Given the description of an element on the screen output the (x, y) to click on. 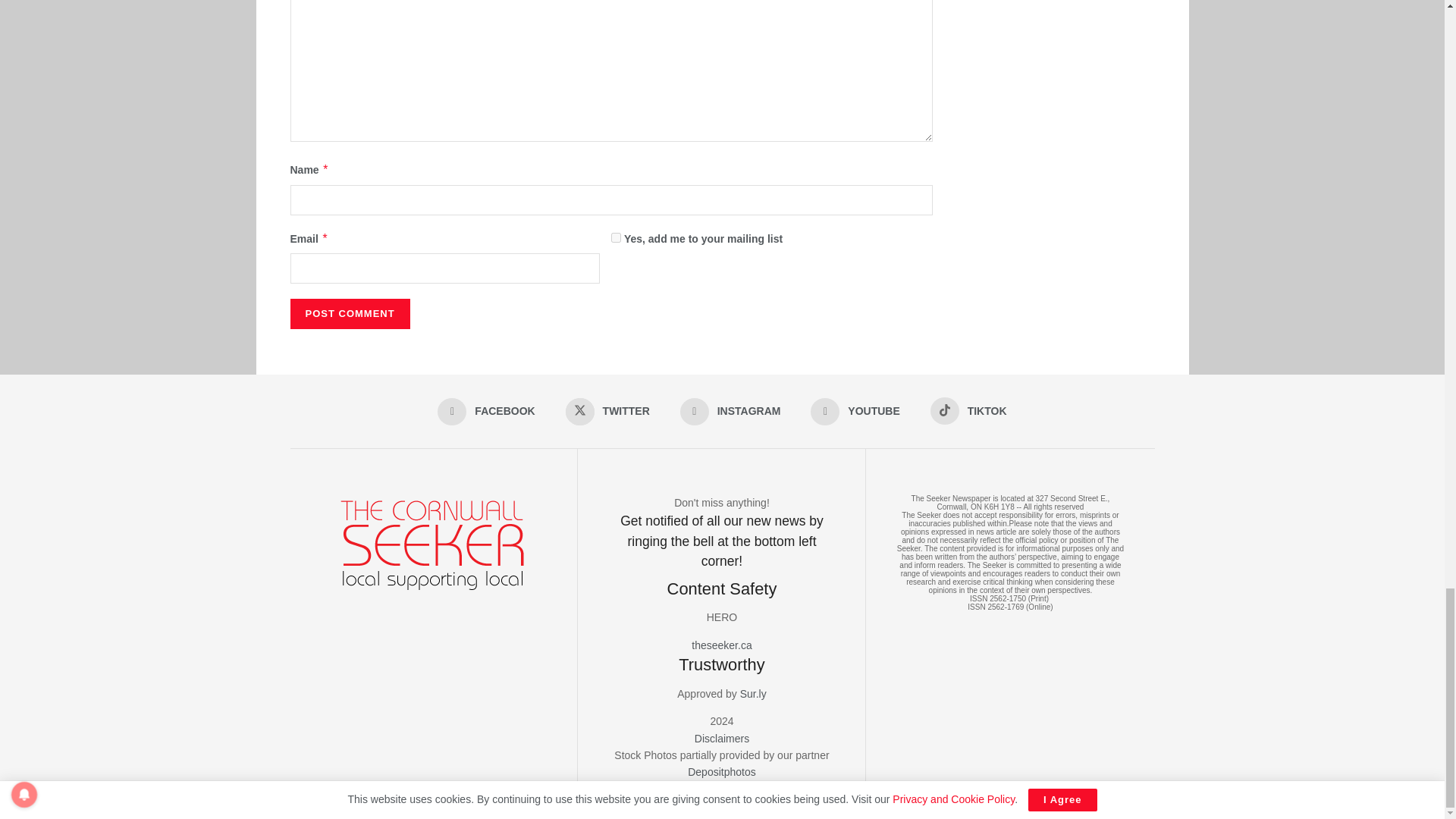
1 (616, 237)
Post Comment (349, 313)
